Given the description of an element on the screen output the (x, y) to click on. 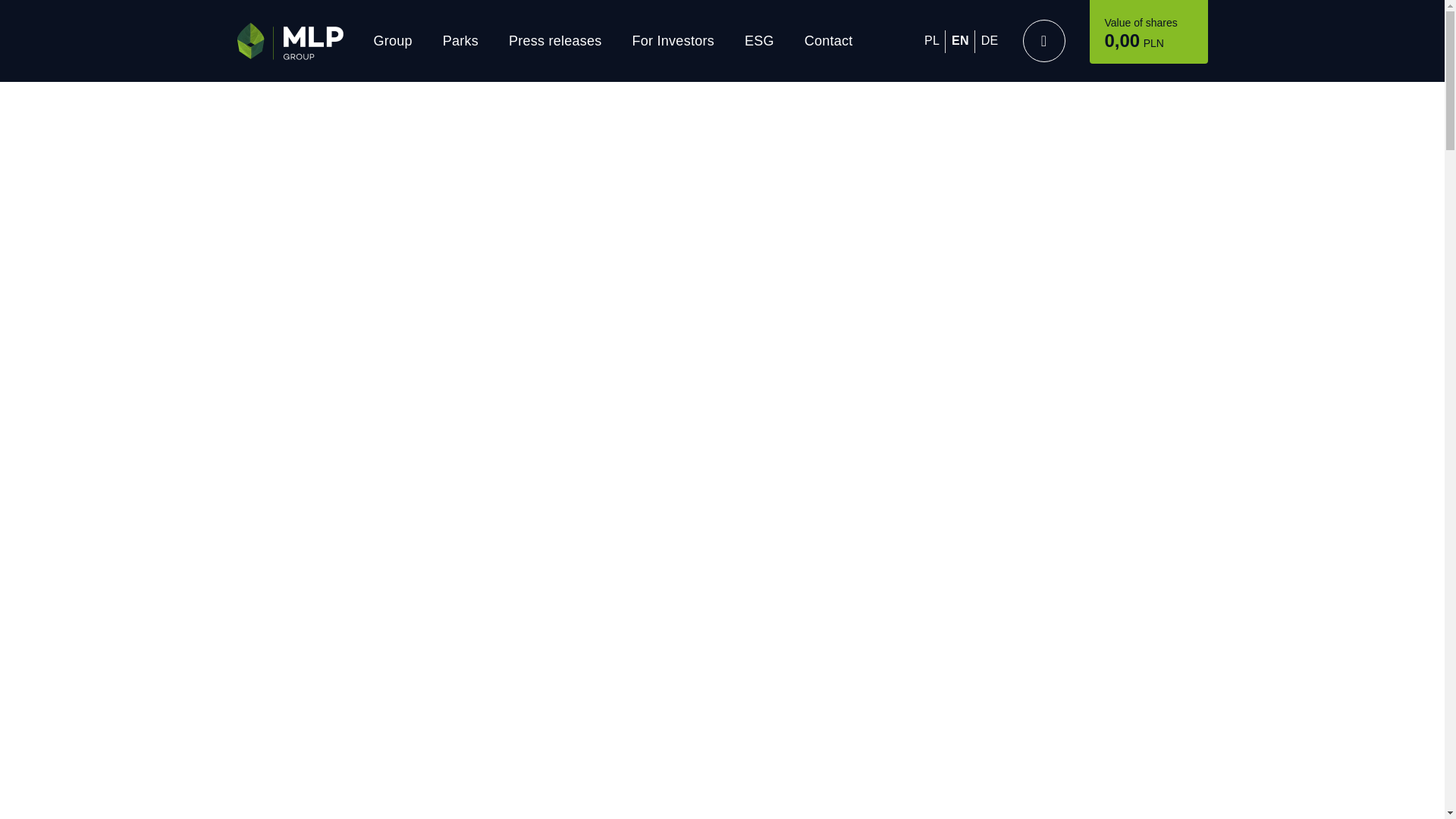
MLP Group S.A. -  (288, 40)
For Investors (672, 40)
Press releases (555, 40)
